Given the description of an element on the screen output the (x, y) to click on. 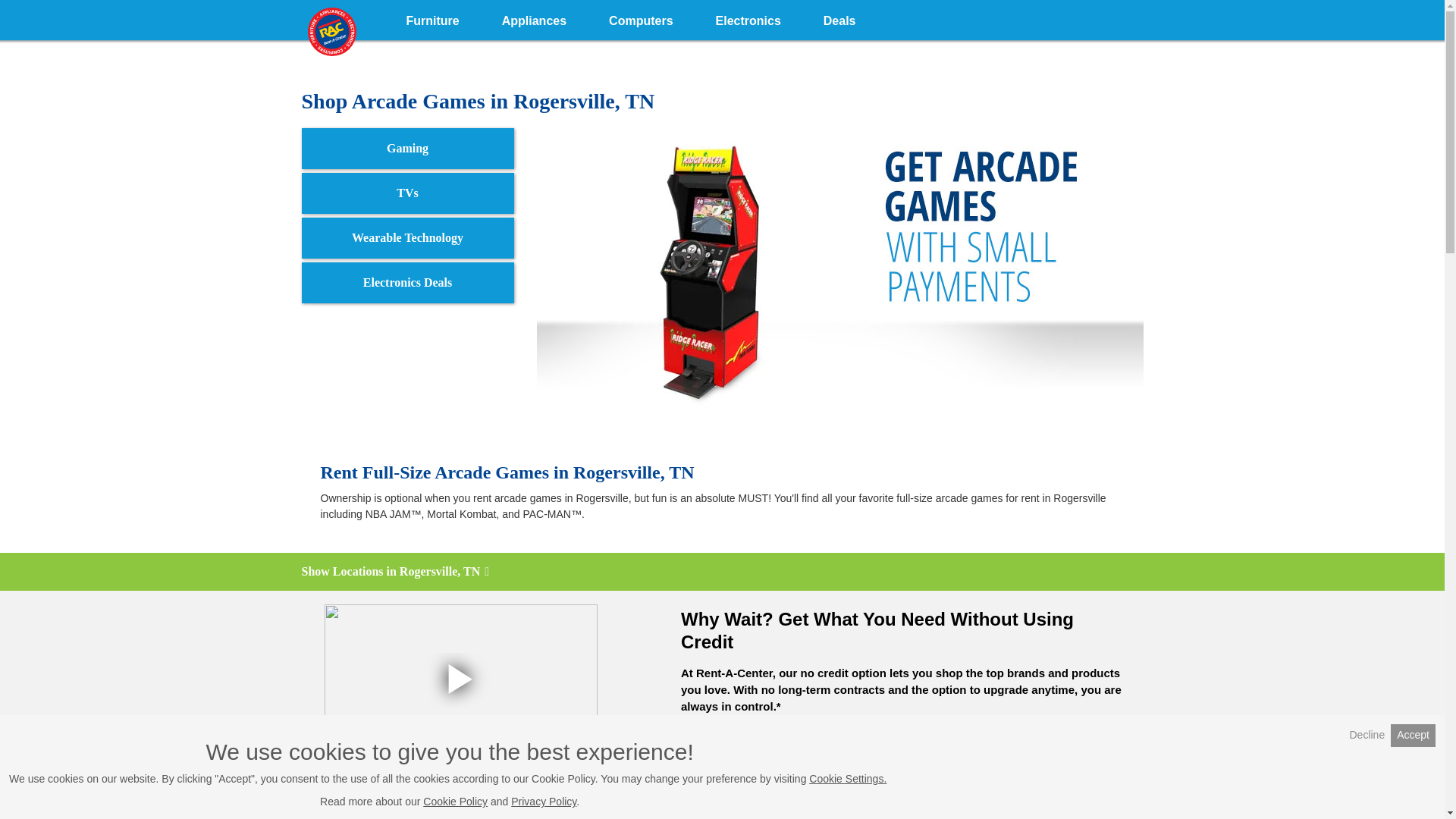
TVs (407, 192)
Electronics Deals (407, 282)
Show Locations in Rogersville, TN (722, 571)
Gaming (407, 147)
Video (460, 679)
Electronics (748, 18)
Deals (839, 18)
Appliances (534, 18)
Wearable Technology (407, 237)
Furniture (432, 18)
Computers (641, 18)
